Given the description of an element on the screen output the (x, y) to click on. 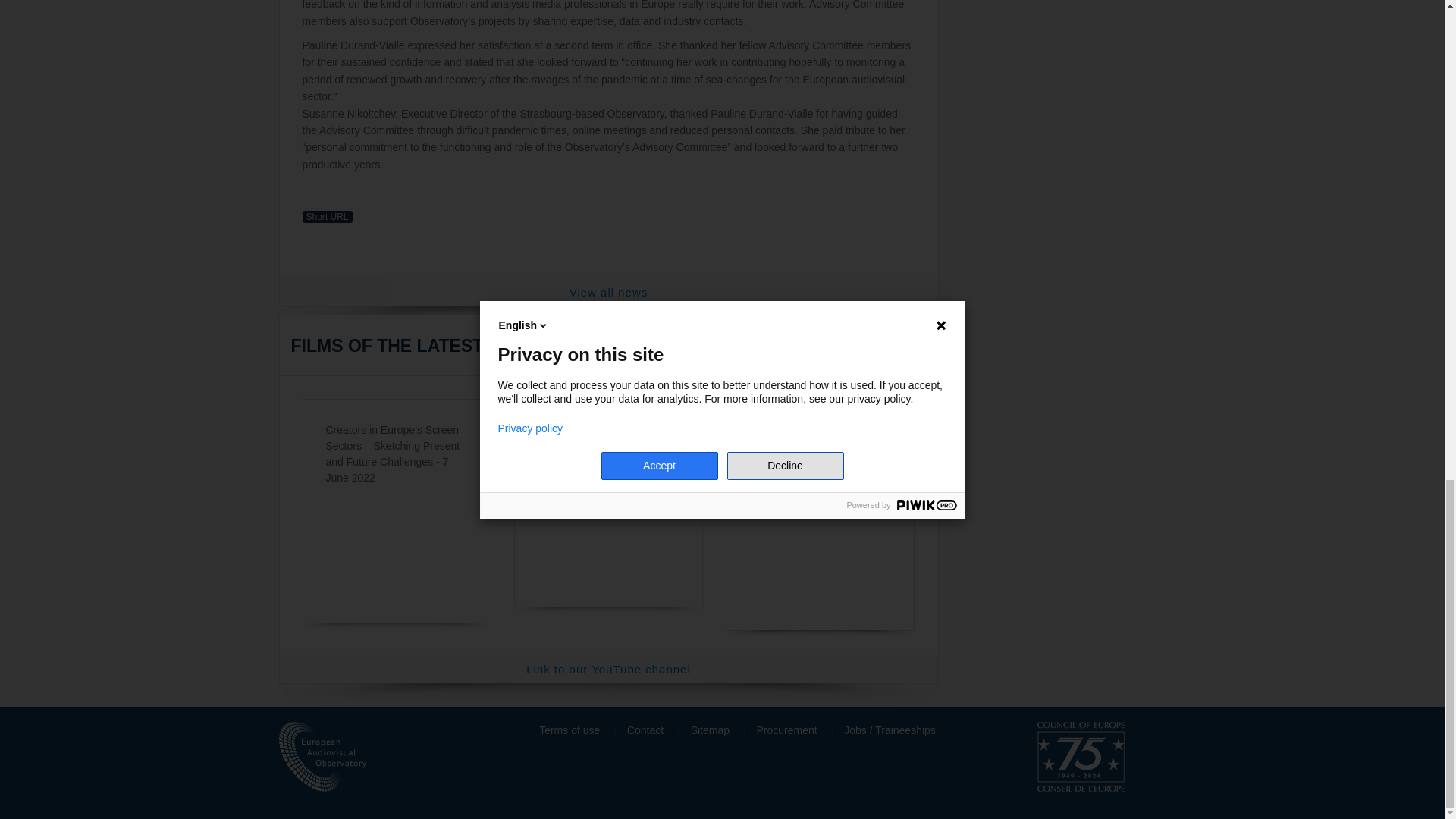
YouTube video player (820, 524)
YouTube video player (608, 524)
